Given the description of an element on the screen output the (x, y) to click on. 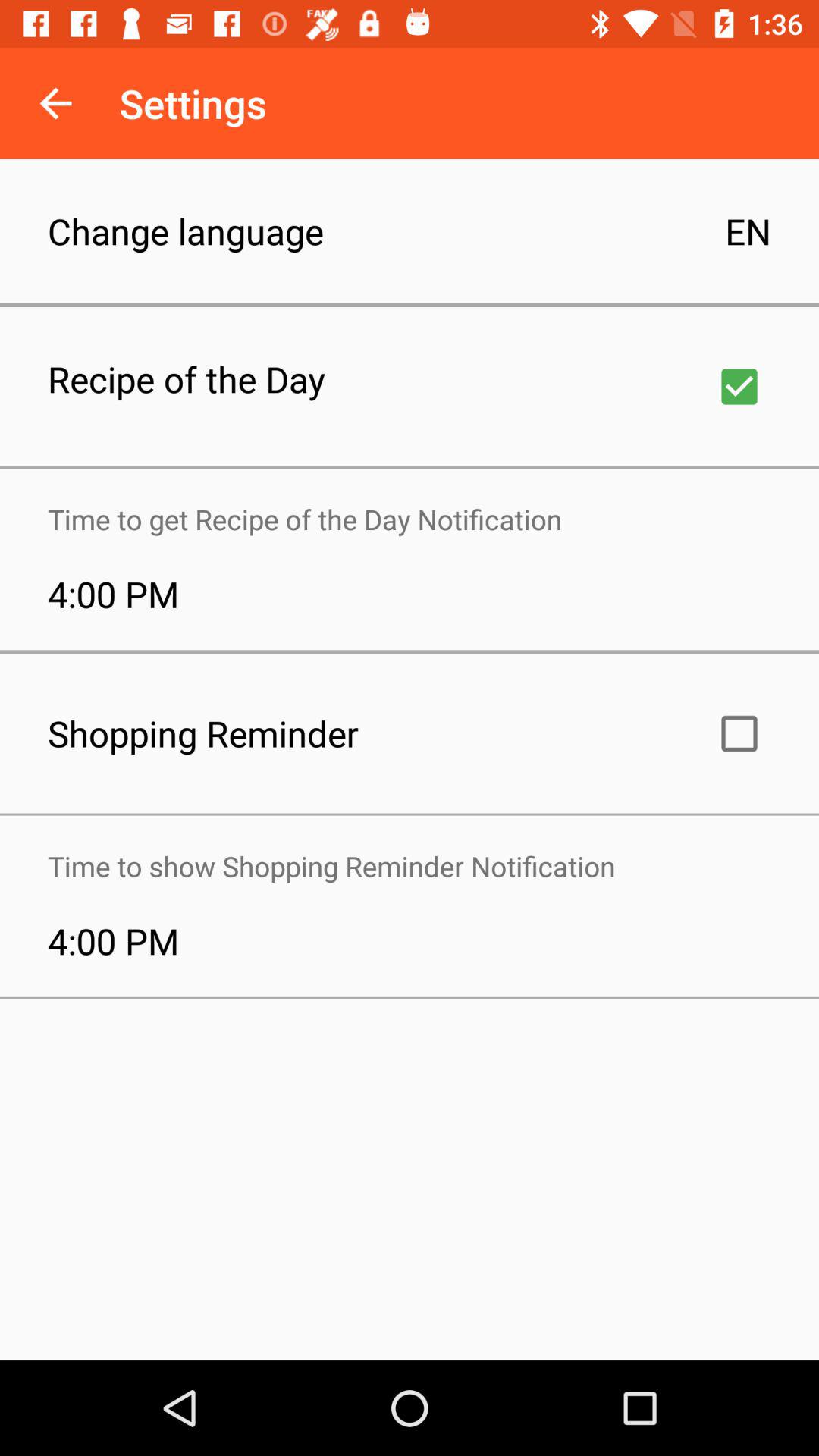
tap the app next to the settings item (55, 103)
